Given the description of an element on the screen output the (x, y) to click on. 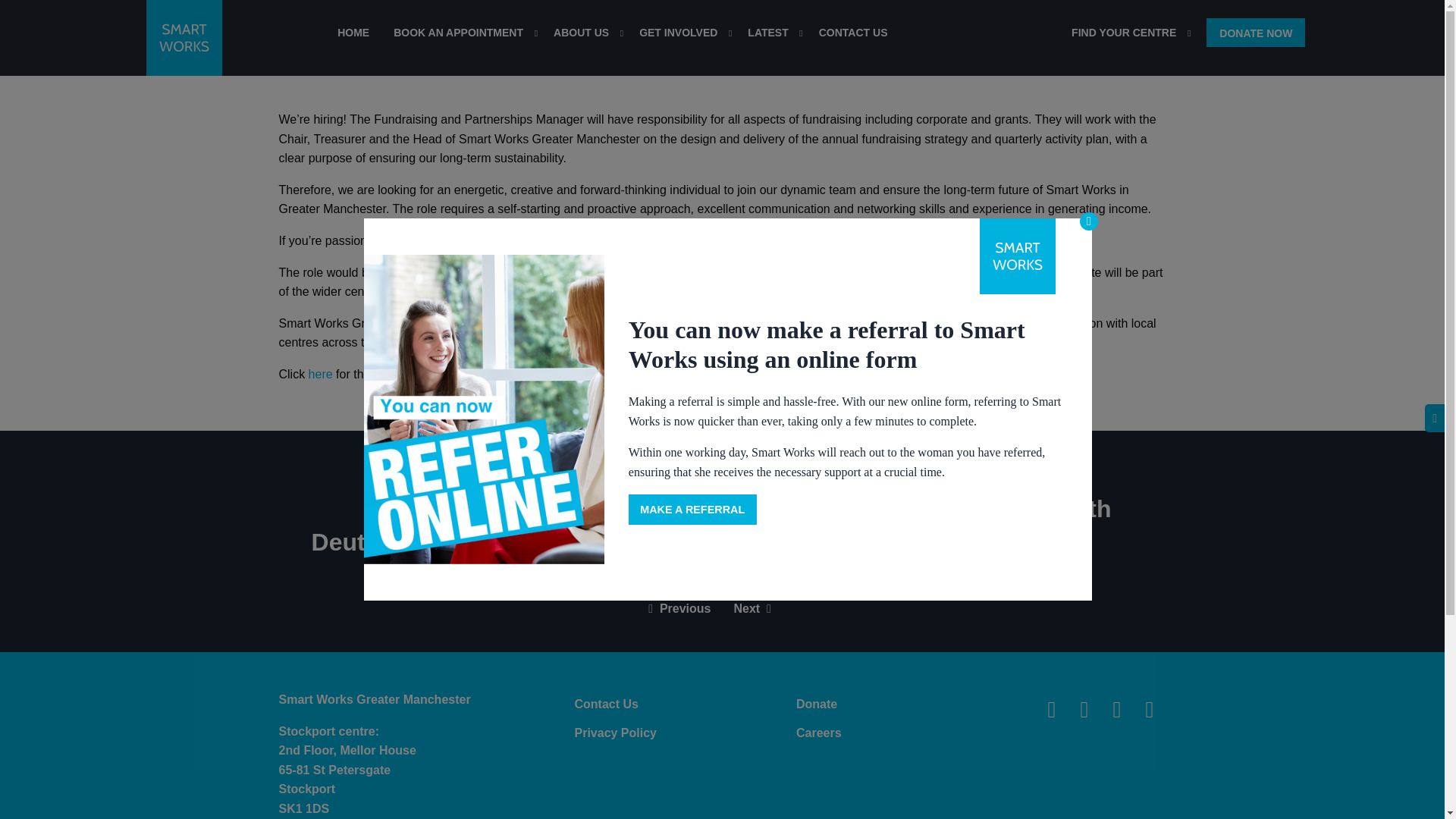
HOME (352, 37)
CONTACT US (852, 37)
LATEST (770, 37)
ABOUT US (584, 37)
DONATE NOW (1255, 31)
here (317, 373)
Careers (906, 733)
Contact Us (684, 704)
Privacy Policy (684, 733)
BOOK AN APPOINTMENT (461, 37)
Donate (906, 704)
FIND YOUR CENTRE (1126, 37)
MAKE A REFERRAL (692, 509)
Manchester Smart Works (184, 38)
GET INVOLVED (681, 37)
